Given the description of an element on the screen output the (x, y) to click on. 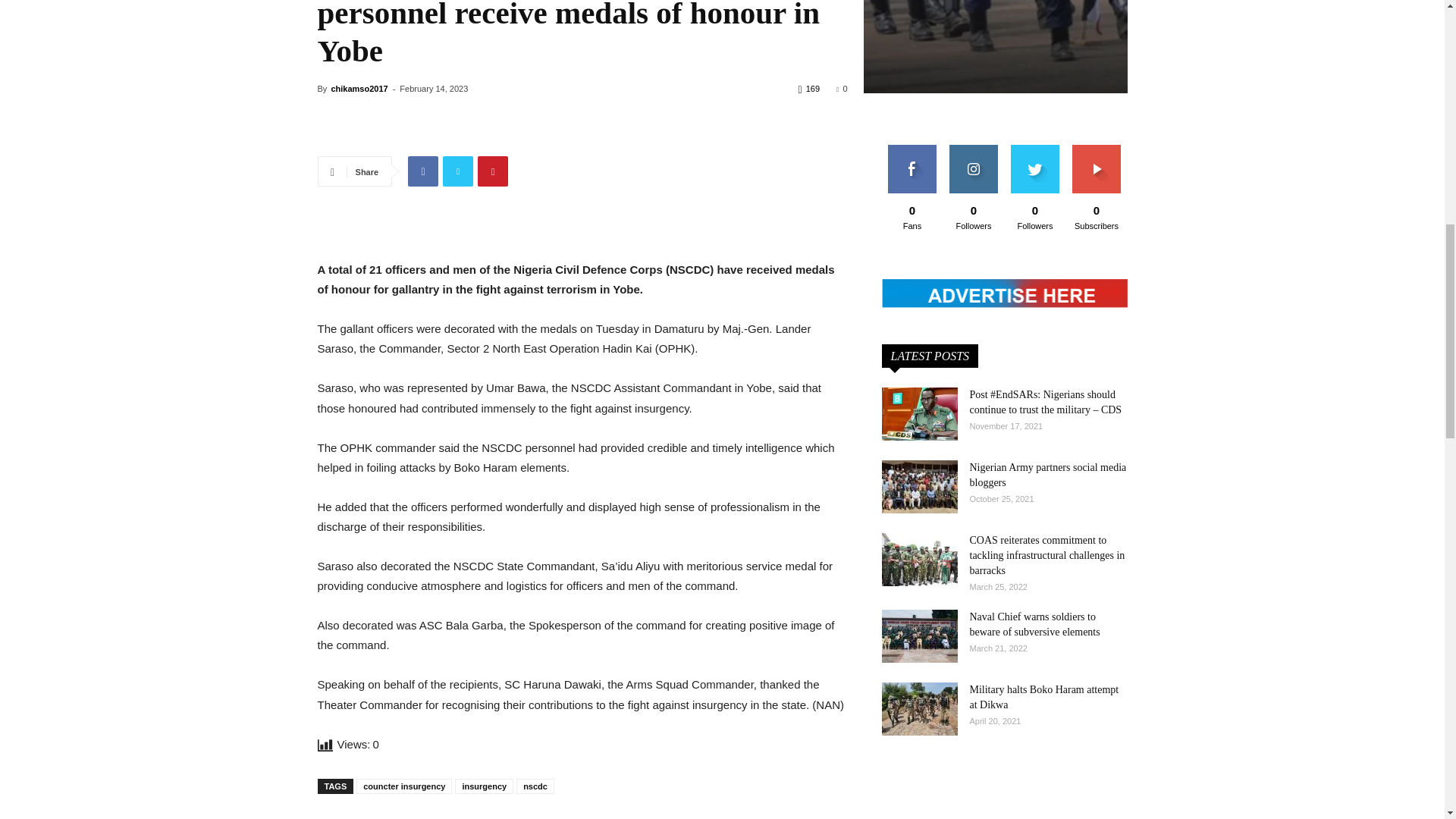
nscdc (721, 46)
